Given the description of an element on the screen output the (x, y) to click on. 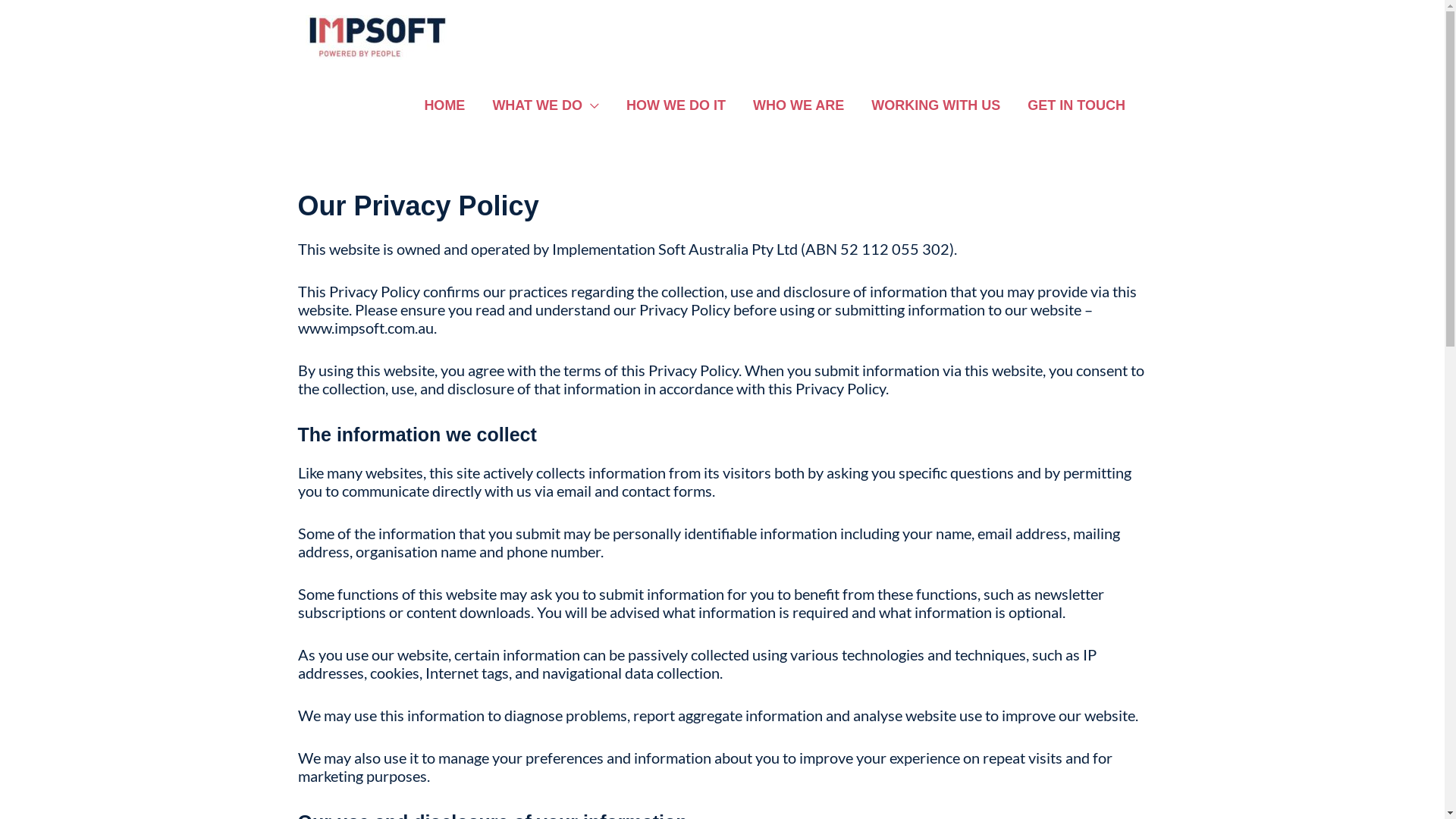
GET IN TOUCH Element type: text (1076, 105)
www.impsoft.com.au Element type: text (365, 327)
HOW WE DO IT Element type: text (675, 105)
WORKING WITH US Element type: text (935, 105)
WHO WE ARE Element type: text (798, 105)
WHAT WE DO Element type: text (545, 105)
HOME Element type: text (444, 105)
